Given the description of an element on the screen output the (x, y) to click on. 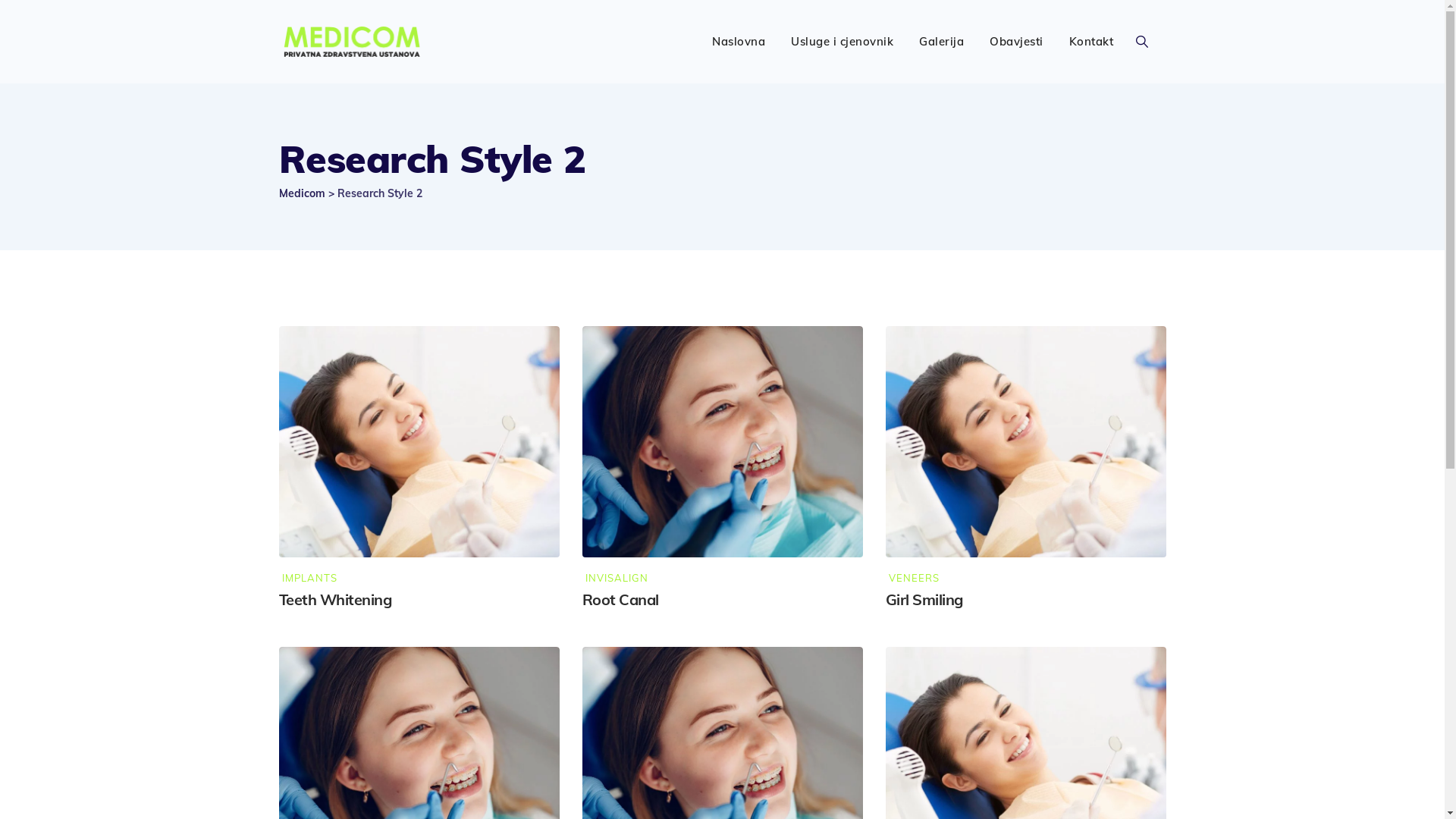
Usluge i cjenovnik Element type: text (841, 41)
Medicom Element type: hover (353, 41)
Naslovna Element type: text (738, 41)
Galerija Element type: text (941, 41)
IMPLANTS Element type: text (308, 578)
INVISALIGN Element type: text (615, 578)
Girl Smiling Element type: text (924, 598)
Kontakt Element type: text (1091, 41)
Obavjesti Element type: text (1016, 41)
Root Canal Element type: text (620, 598)
Medicom Element type: text (302, 193)
VENEERS Element type: text (912, 578)
Teeth Whitening Element type: text (335, 598)
